Given the description of an element on the screen output the (x, y) to click on. 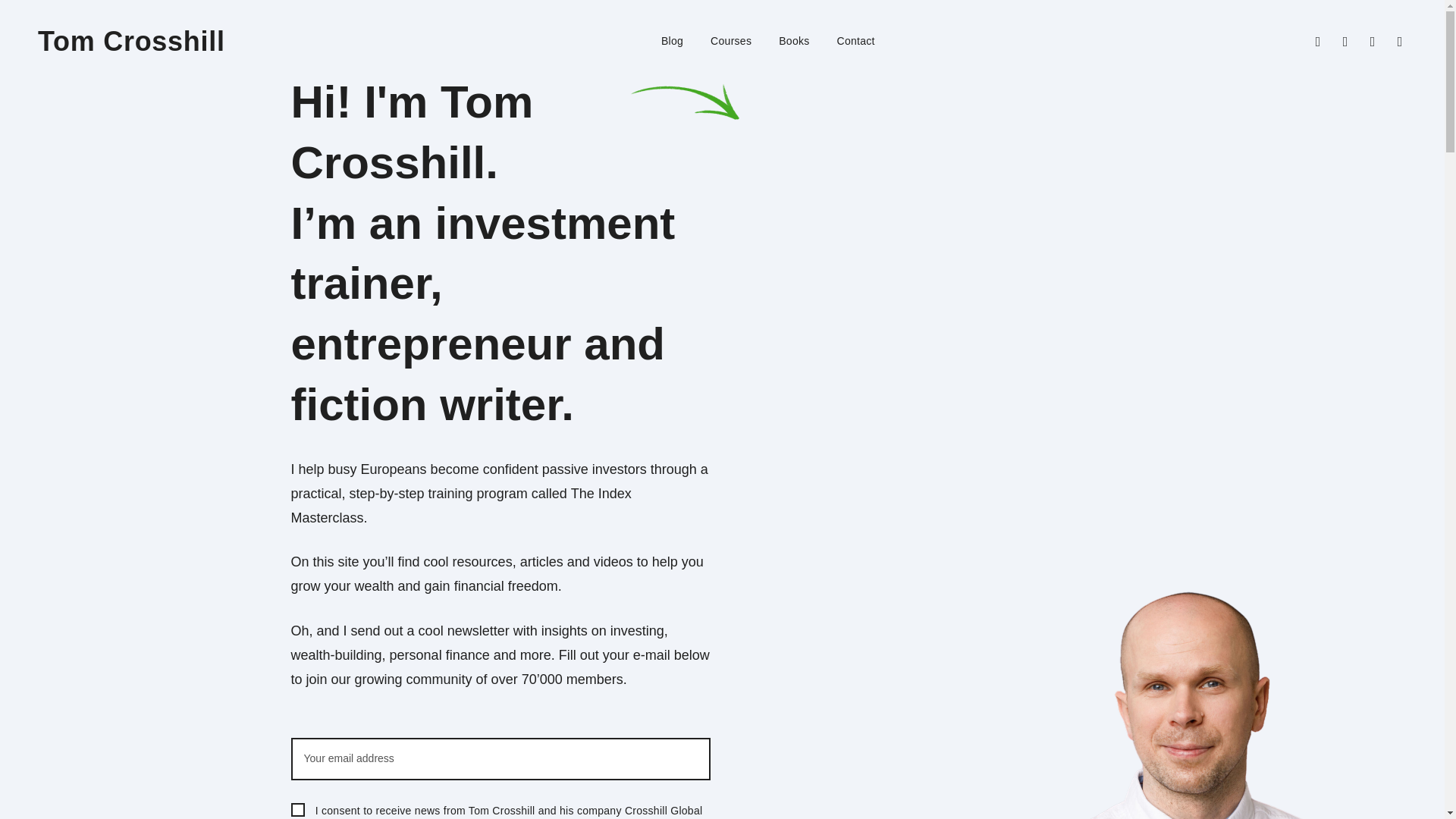
Tom Crosshill (131, 40)
Courses (730, 40)
Contact (856, 40)
1 (297, 809)
